Given the description of an element on the screen output the (x, y) to click on. 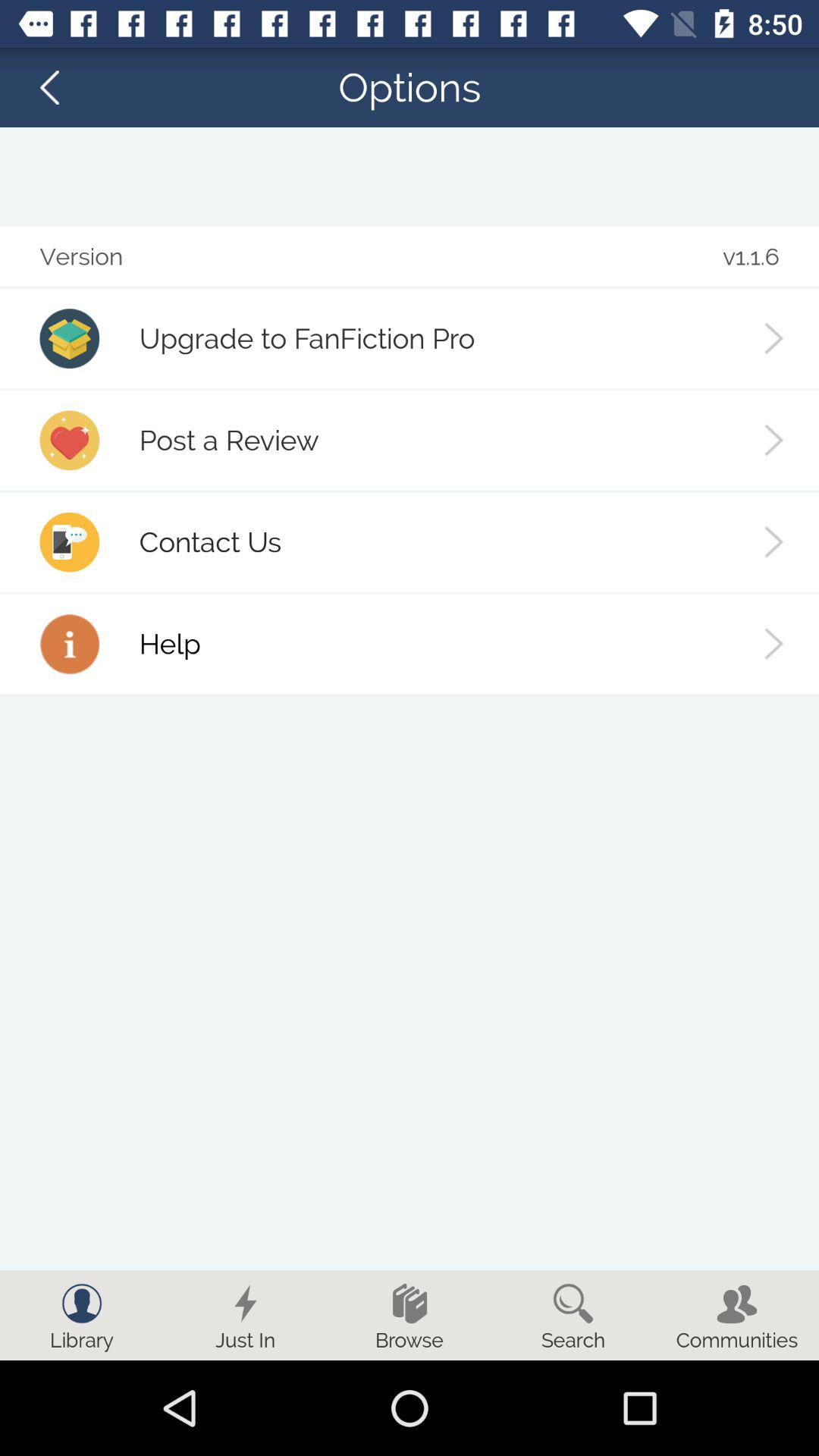
click on the button which is right to the text contact us (774, 541)
select the first image from top (69, 338)
